Given the description of an element on the screen output the (x, y) to click on. 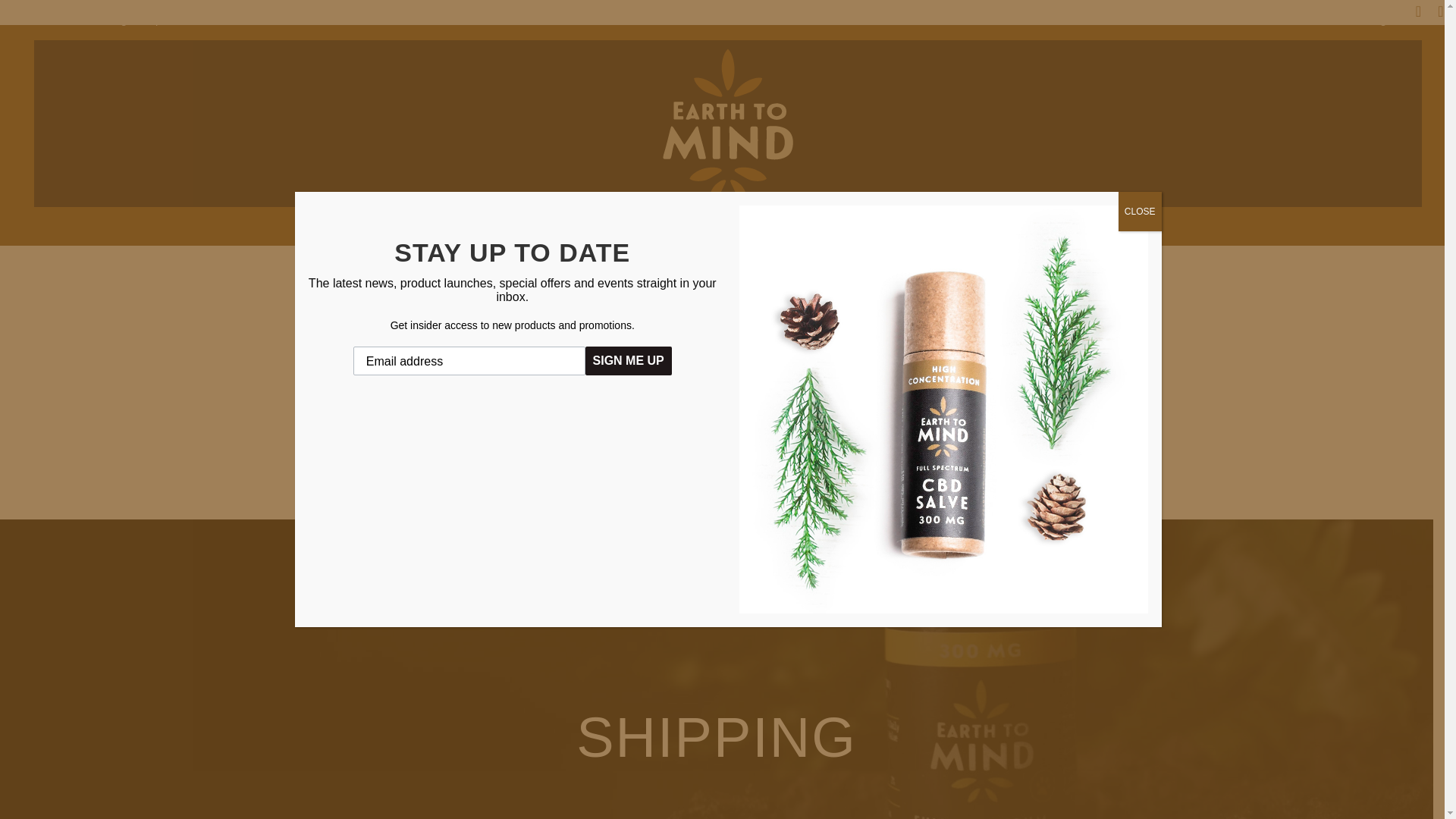
CONTACT US (1006, 229)
ABOUT US (688, 229)
FIND US (871, 229)
SHOP CBD (390, 229)
BLOG (929, 229)
CBD ASSISTANCE PROGRAM (539, 229)
Customer Login (1353, 19)
CBD Assistance Program (79, 19)
0 (1080, 229)
LAB RESULTS (785, 229)
